Given the description of an element on the screen output the (x, y) to click on. 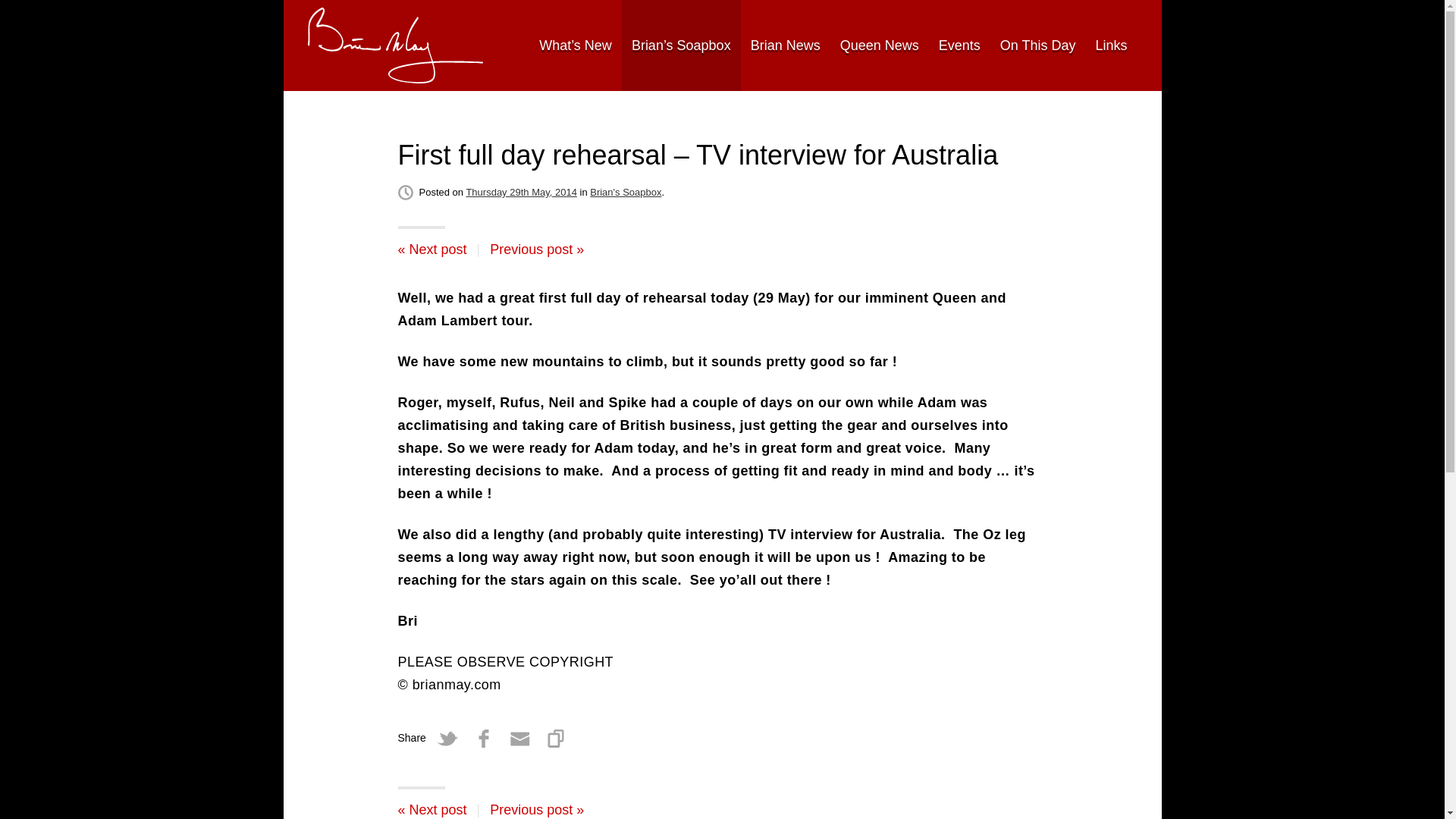
brianmay.com (395, 45)
Queen News (878, 45)
Skip to content (326, 45)
Last day rehearsals - WWRY the last night (431, 809)
Brian's Soapbox (625, 192)
Brian News (785, 45)
This and that... (536, 249)
On This Day (1038, 45)
Last day rehearsals - WWRY the last night (431, 249)
This and that... (536, 809)
